Given the description of an element on the screen output the (x, y) to click on. 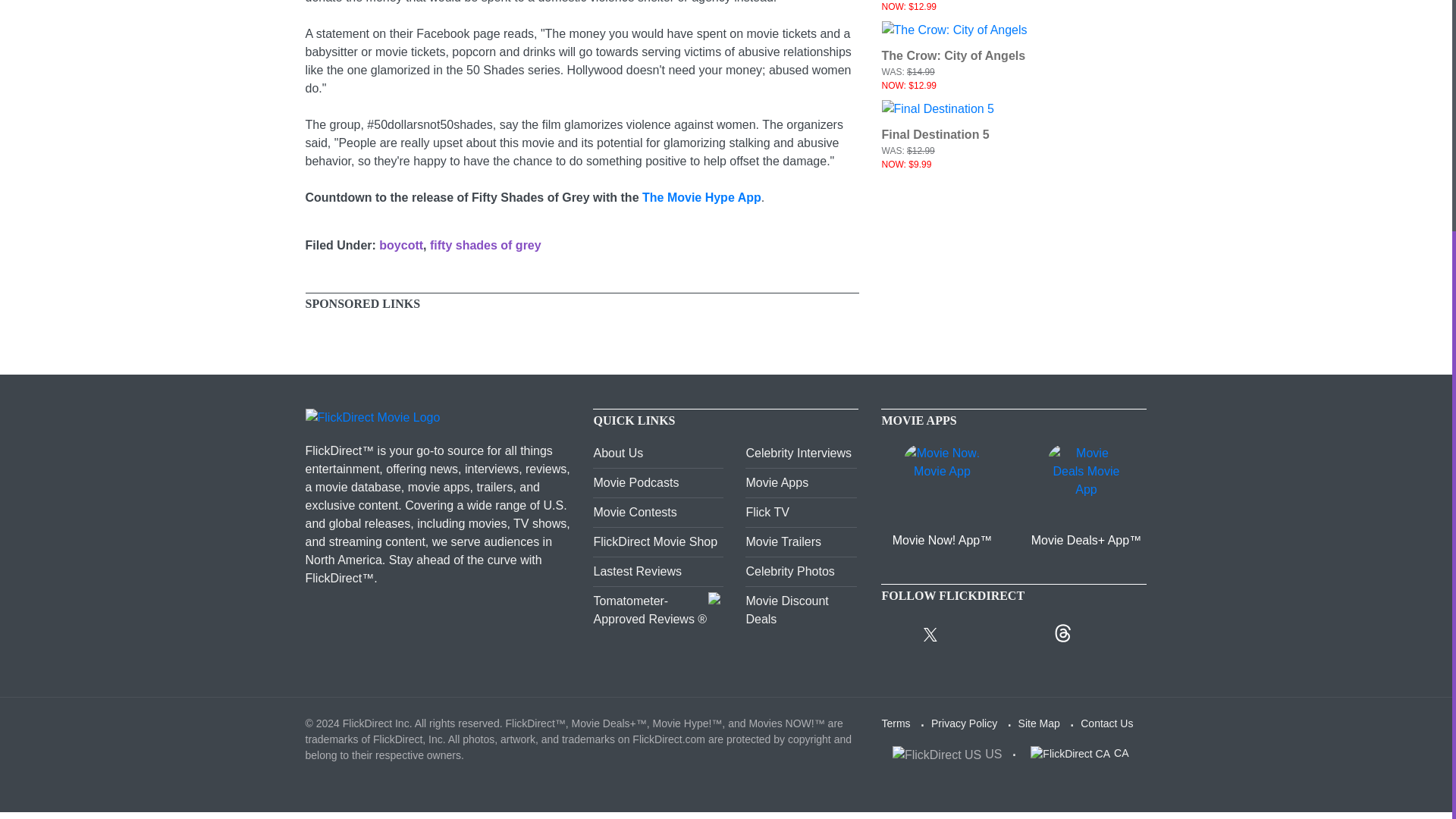
fifty shades of grey (485, 245)
boycott (400, 245)
boycott (400, 245)
The Movie Hype App (701, 196)
